Given the description of an element on the screen output the (x, y) to click on. 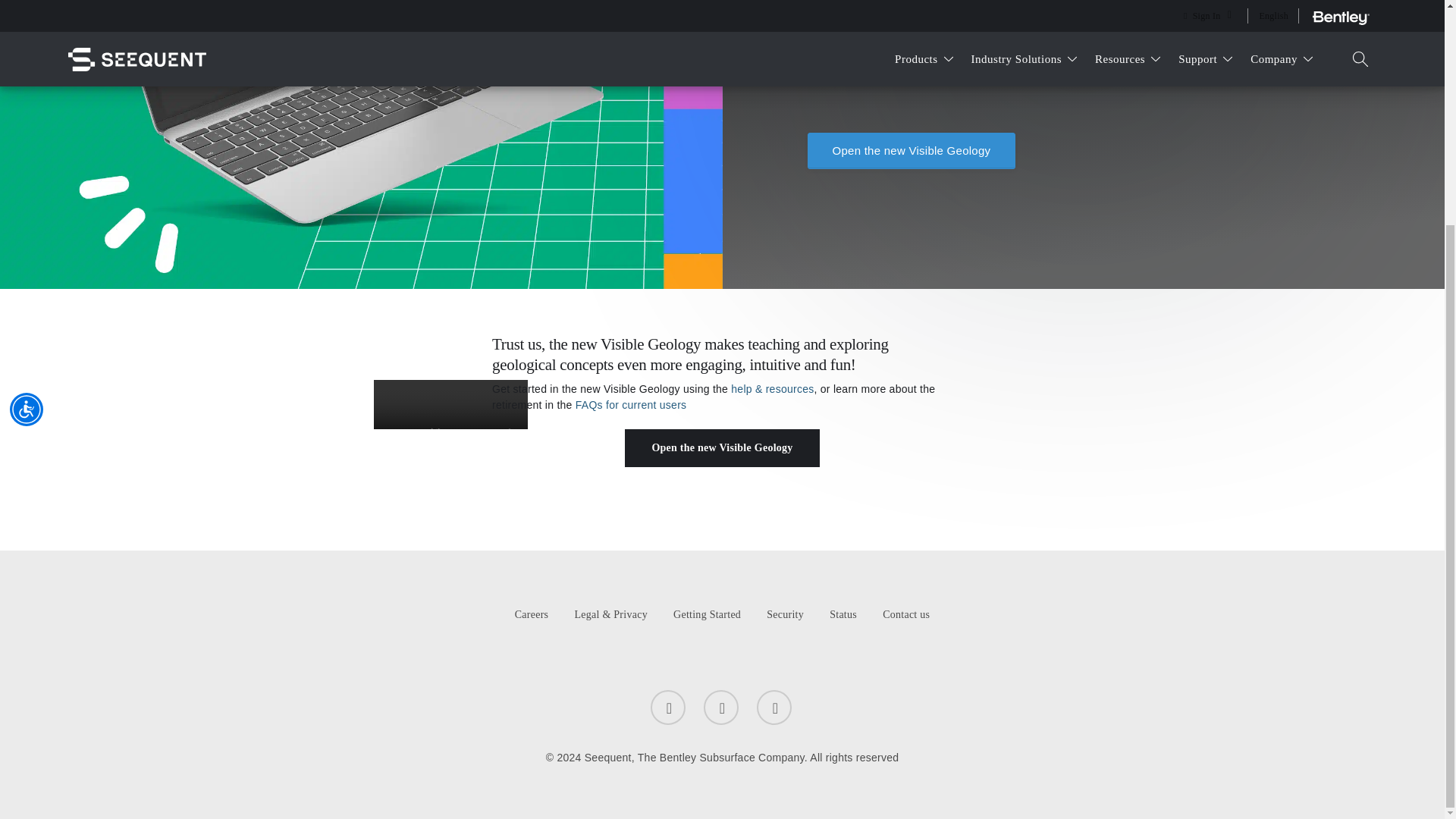
Accessibility Menu (26, 108)
